Given the description of an element on the screen output the (x, y) to click on. 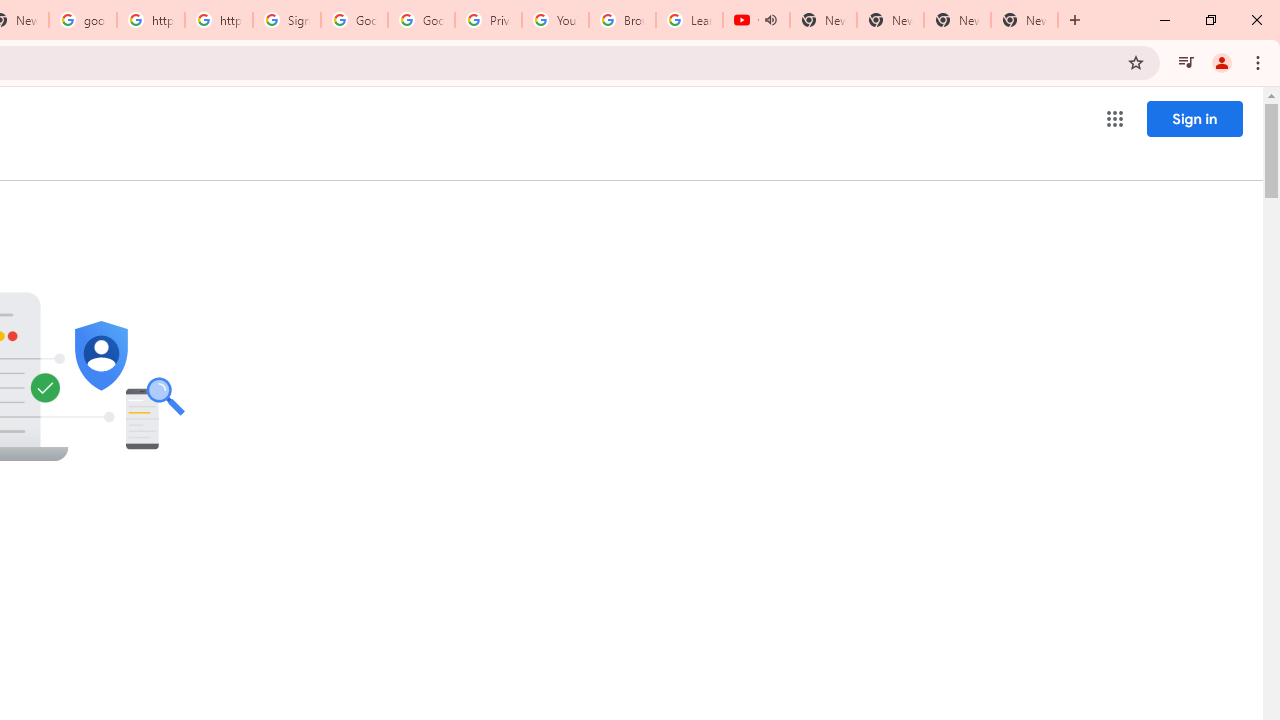
Sign in - Google Accounts (287, 20)
https://scholar.google.com/ (150, 20)
New Tab (1024, 20)
YouTube (555, 20)
https://scholar.google.com/ (219, 20)
